Given the description of an element on the screen output the (x, y) to click on. 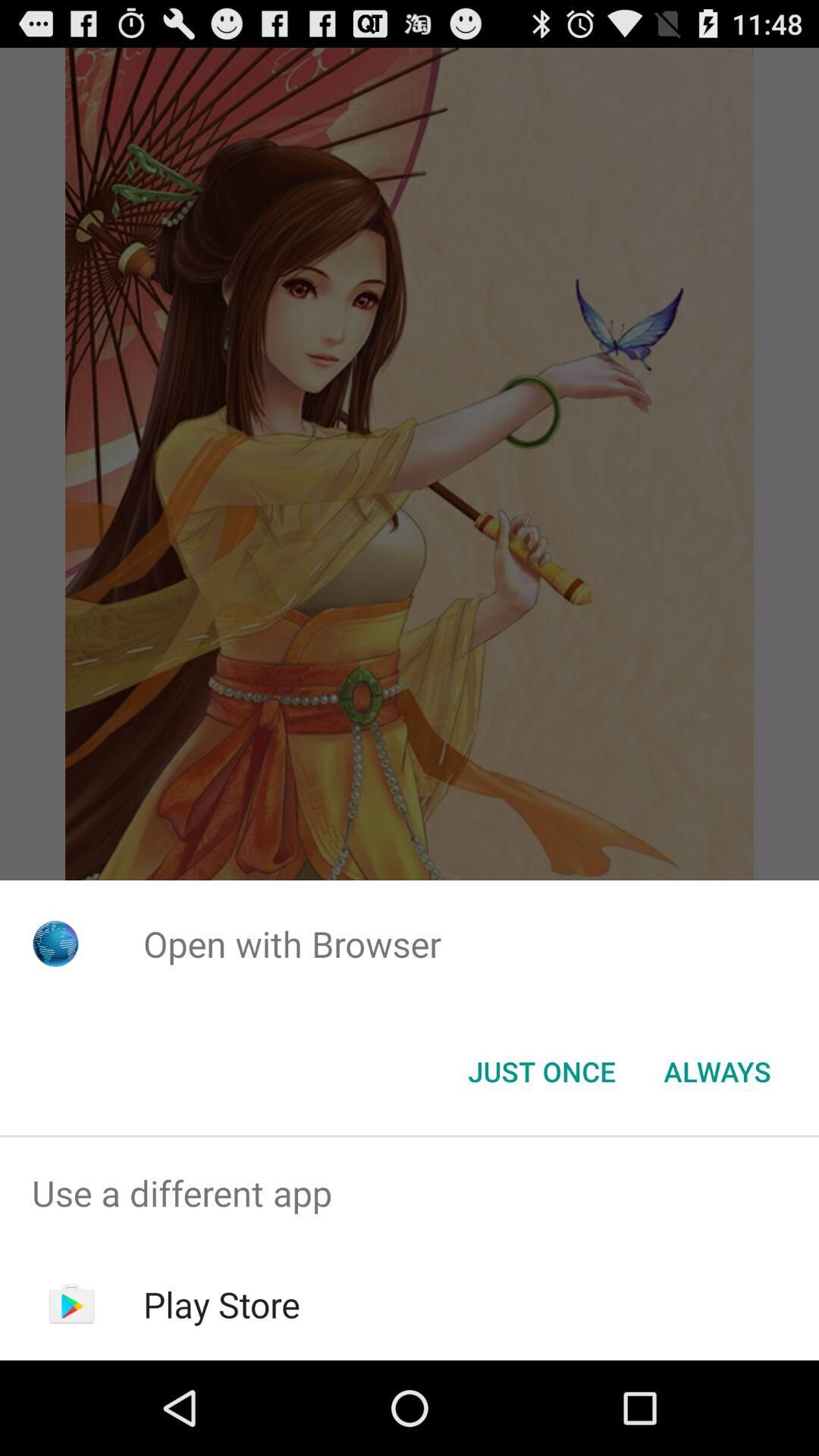
open the button next to the always (541, 1071)
